Given the description of an element on the screen output the (x, y) to click on. 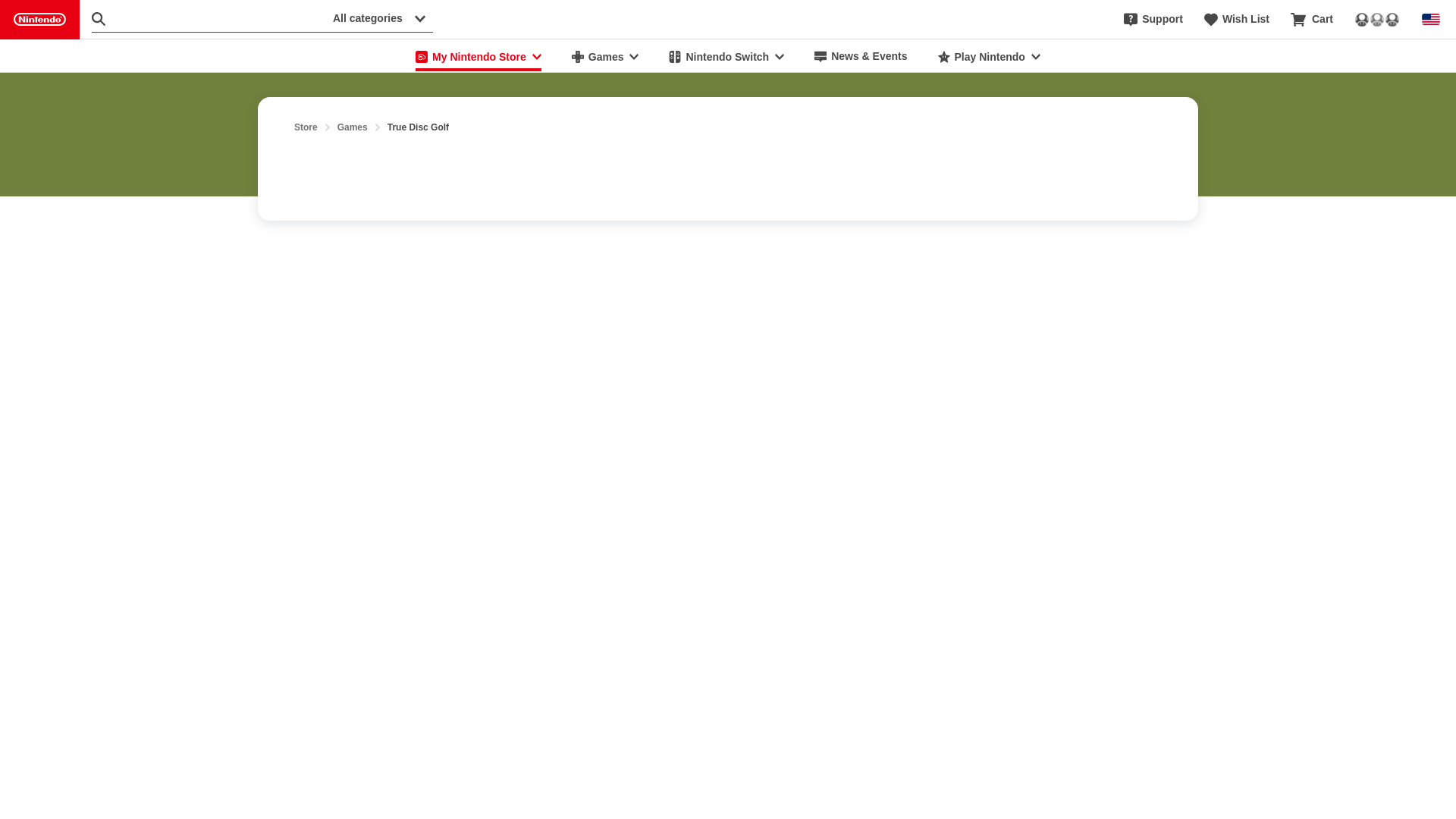
Nintendo Switch (726, 56)
Games (604, 56)
Games (352, 127)
Nintendo (40, 19)
Play Nintendo (988, 56)
Store (305, 127)
My Nintendo Store (478, 56)
Support (1153, 19)
Cart (1311, 19)
Wish List (1236, 19)
